Given the description of an element on the screen output the (x, y) to click on. 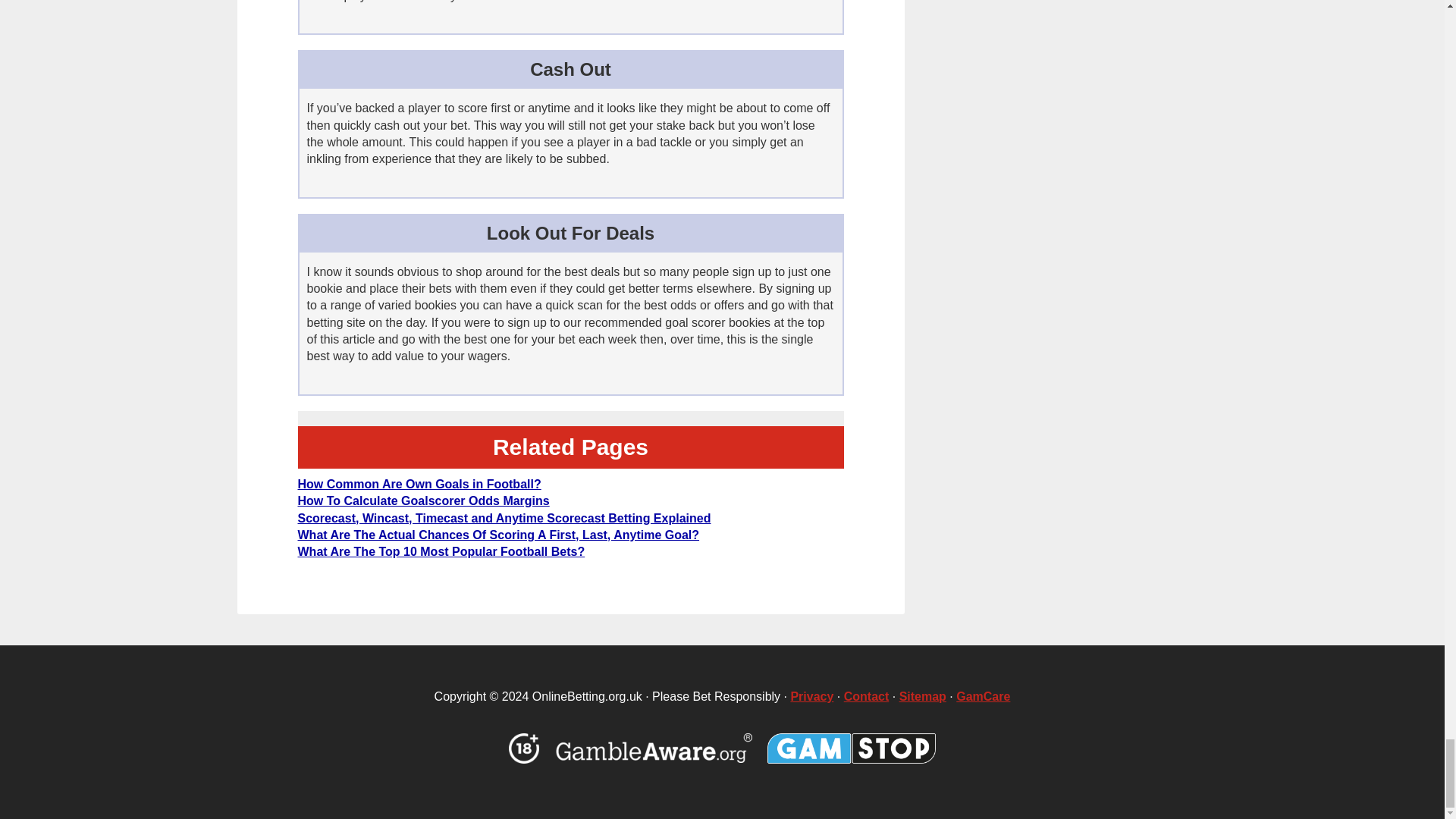
How Common Are Own Goals in Football? (418, 483)
